Given the description of an element on the screen output the (x, y) to click on. 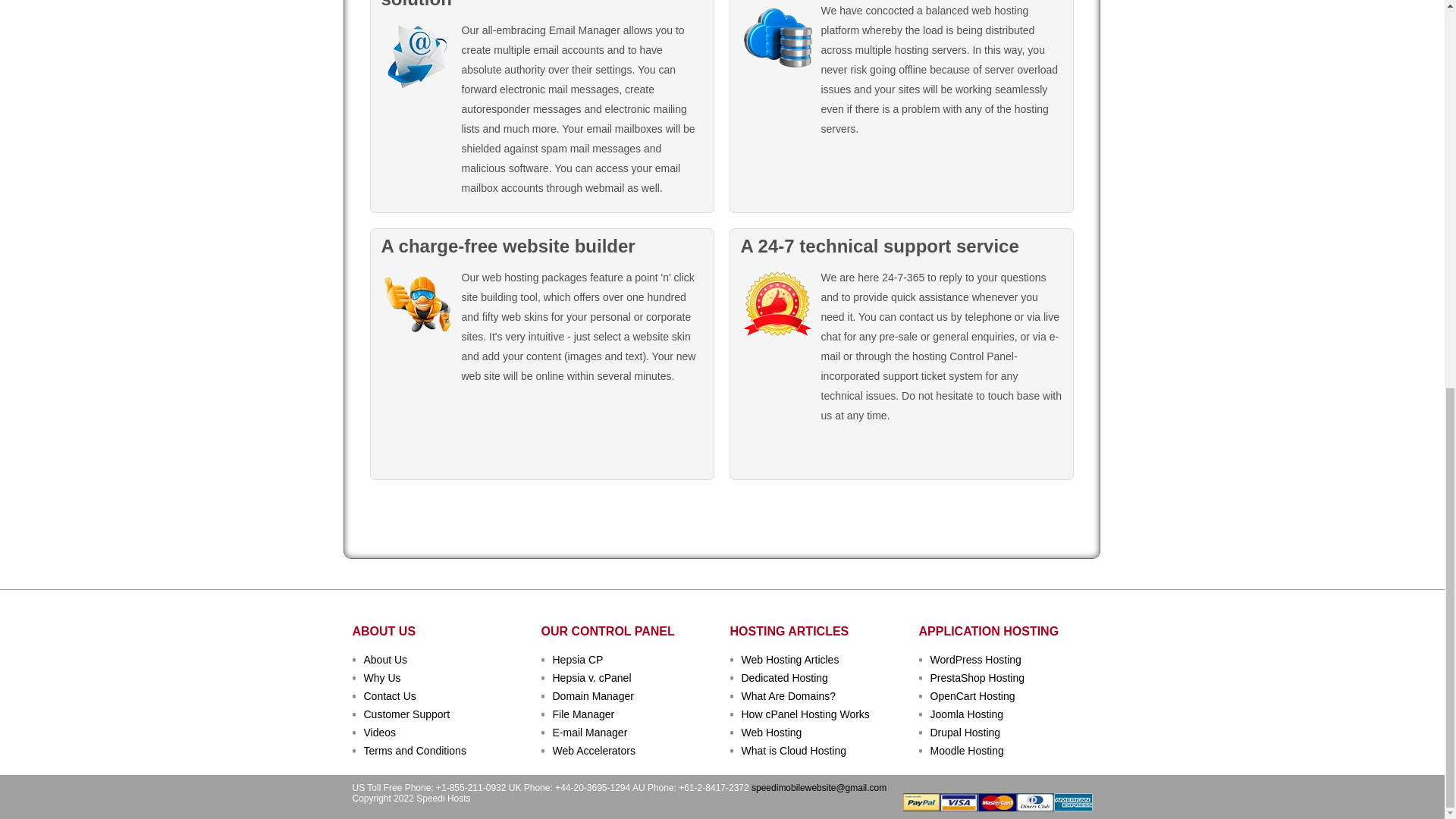
A 24-7 technical support service (775, 303)
A one-stop e-mail management solution (416, 56)
About Us (385, 659)
A charge-free website builder (416, 303)
Why Us (382, 677)
A cloud hosting platform (775, 36)
